Given the description of an element on the screen output the (x, y) to click on. 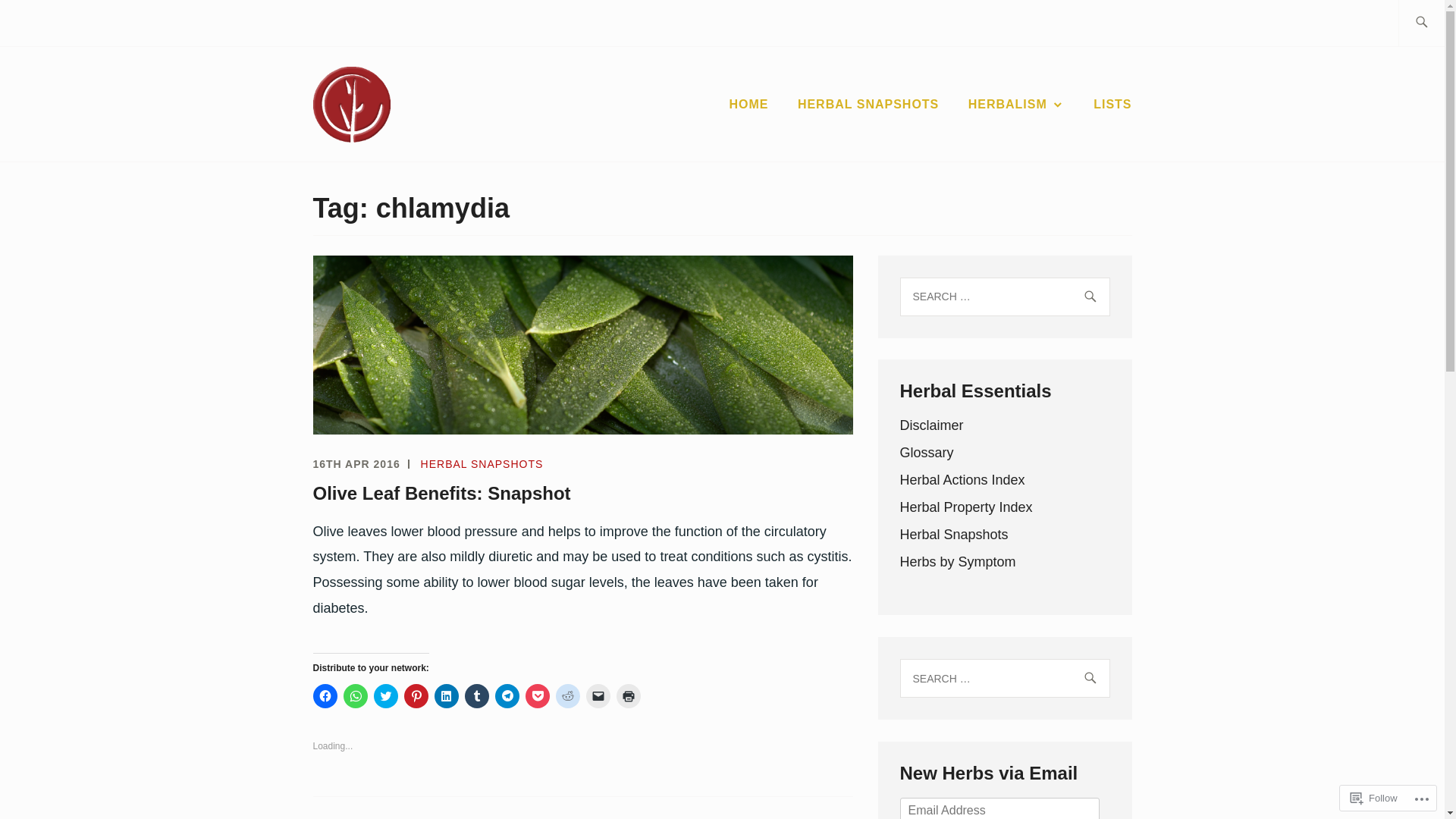
Disclaimer Element type: text (931, 425)
LISTS Element type: text (1112, 104)
Search Element type: text (47, 21)
Click to email a link to a friend (Opens in new window) Element type: text (597, 696)
Herbal Actions Index Element type: text (961, 479)
Herbal Property Index Element type: text (965, 506)
HERBAL SNAPSHOTS Element type: text (867, 104)
Olive Leaf Benefits: Snapshot Element type: text (441, 493)
Search for: Element type: hover (1004, 677)
HOME Element type: text (748, 104)
HERBAL SNAPSHOTS Element type: text (481, 464)
HERBALISM Element type: text (1016, 104)
Click to share on Reddit (Opens in new window) Element type: text (567, 696)
Search for: Element type: hover (1004, 296)
Click to share on Twitter (Opens in new window) Element type: text (385, 696)
Click to share on Pinterest (Opens in new window) Element type: text (415, 696)
Herbal Snapshots Element type: text (953, 534)
Search for: Element type: hover (1438, 23)
Click to share on Telegram (Opens in new window) Element type: text (506, 696)
16TH APR 2016 Element type: text (355, 464)
Follow Element type: text (1373, 797)
Glossary Element type: text (926, 452)
Click to share on Tumblr (Opens in new window) Element type: text (476, 696)
Click to share on Pocket (Opens in new window) Element type: text (536, 696)
Click to share on LinkedIn (Opens in new window) Element type: text (445, 696)
Click to print (Opens in new window) Element type: text (627, 696)
Herbs by Symptom Element type: text (957, 561)
Click to share on Facebook (Opens in new window) Element type: text (324, 696)
Click to share on WhatsApp (Opens in new window) Element type: text (354, 696)
